Given the description of an element on the screen output the (x, y) to click on. 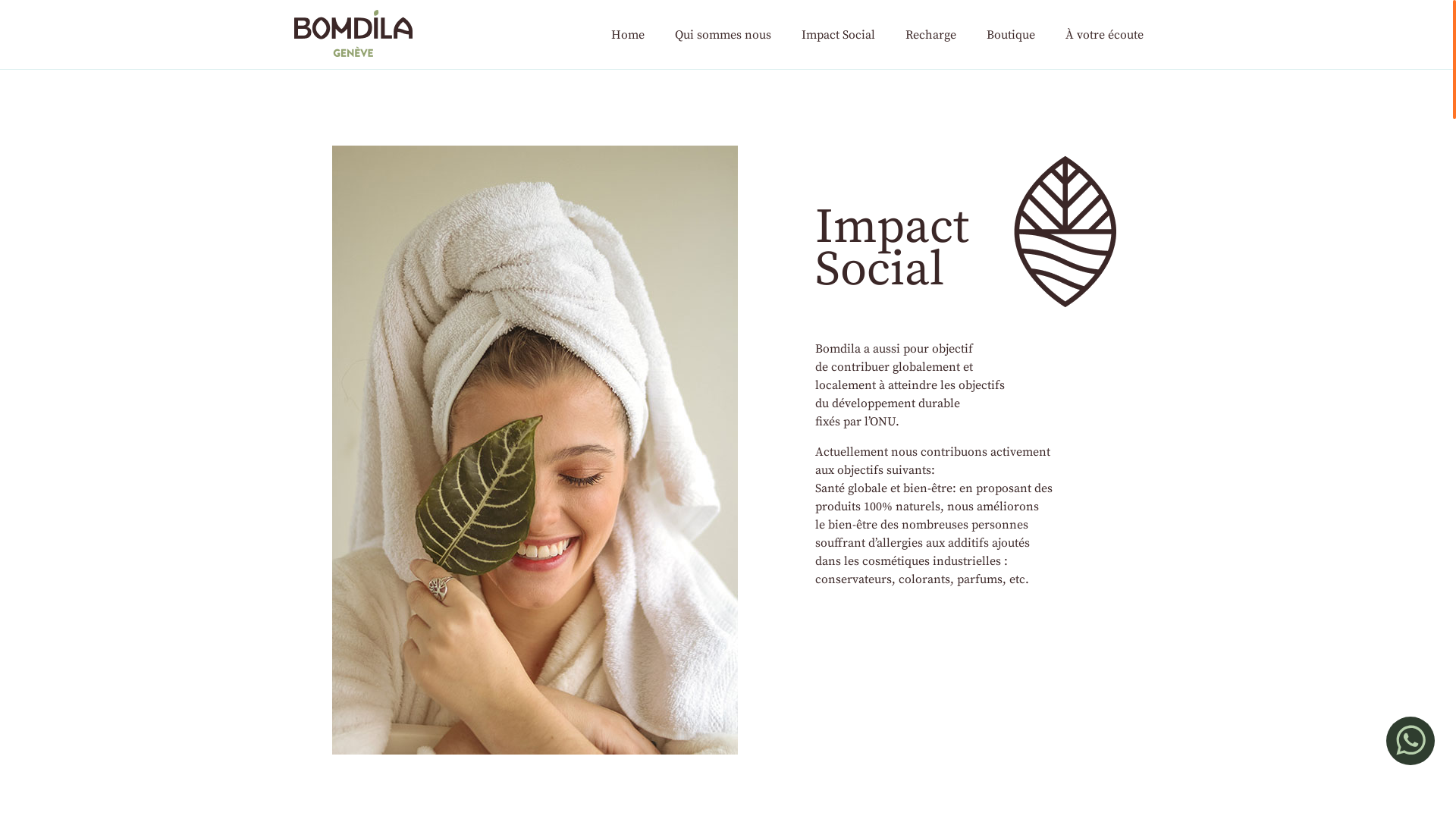
Home Element type: text (627, 34)
Recharge Element type: text (930, 34)
Boutique Element type: text (1010, 34)
Impact Social Element type: text (838, 34)
folha Element type: hover (1064, 231)
Qui sommes nous Element type: text (722, 34)
impacte1 Element type: hover (534, 449)
